Given the description of an element on the screen output the (x, y) to click on. 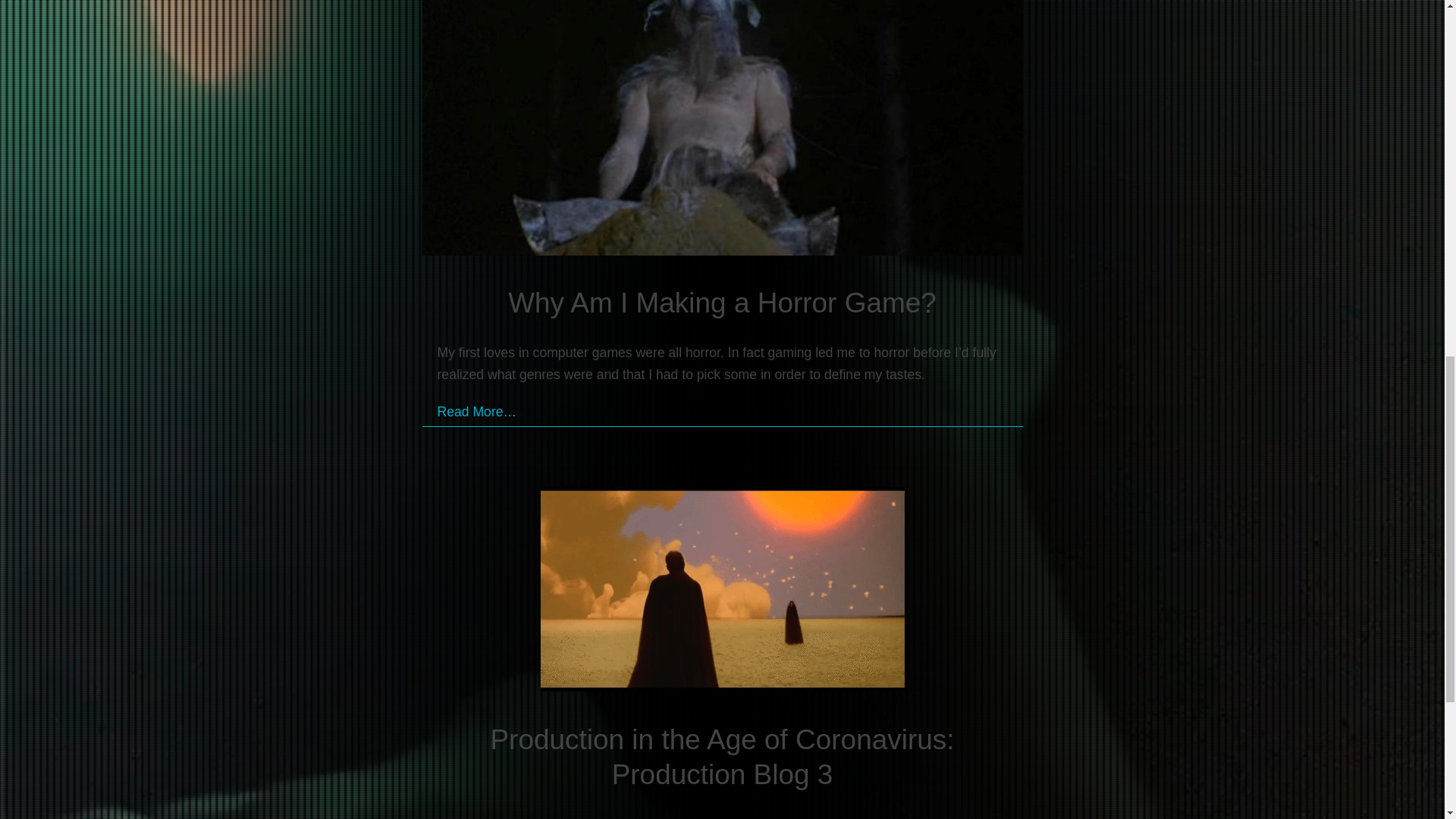
Production in the Age of Coronavirus: Production Blog 3 (721, 756)
Production in the Age of Coronavirus: Production Blog 3 (722, 592)
Why Am I Making a Horror Game? (722, 302)
